Given the description of an element on the screen output the (x, y) to click on. 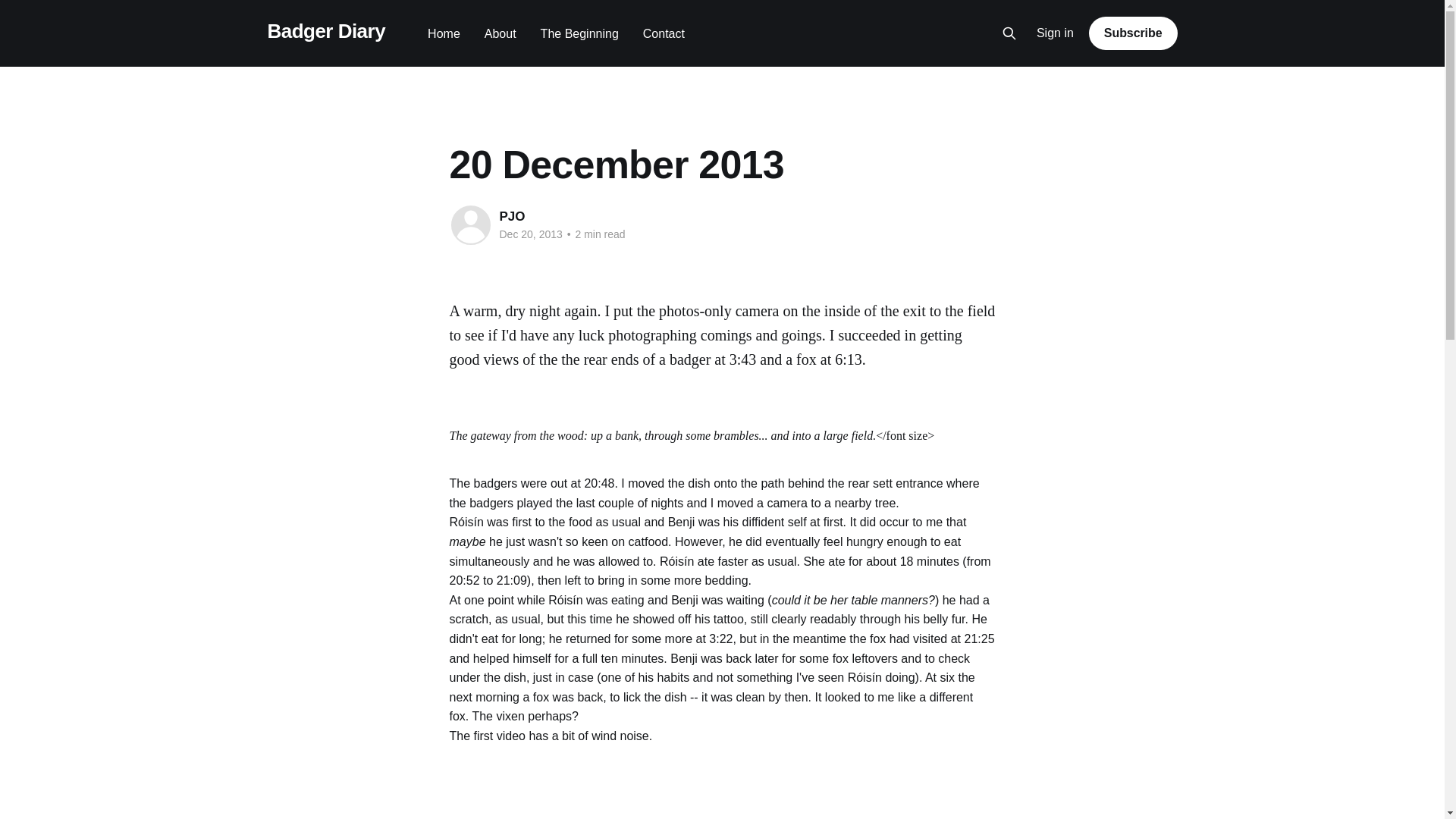
Home (444, 33)
Badger Diary (325, 31)
About (500, 33)
The Beginning (579, 33)
Contact (663, 33)
Sign in (1055, 33)
Subscribe (1133, 32)
PJO (511, 216)
